Given the description of an element on the screen output the (x, y) to click on. 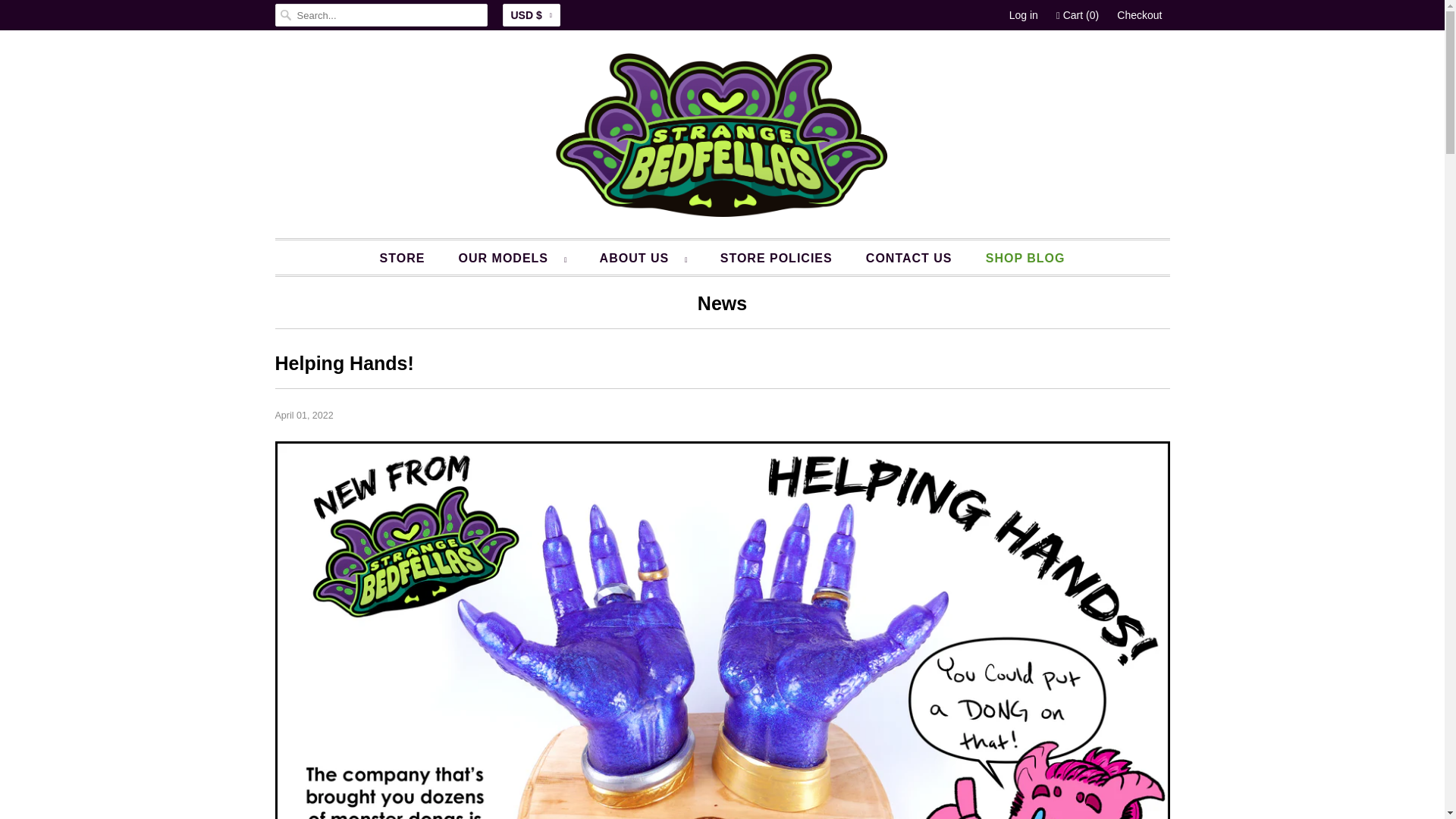
News (722, 306)
